Given the description of an element on the screen output the (x, y) to click on. 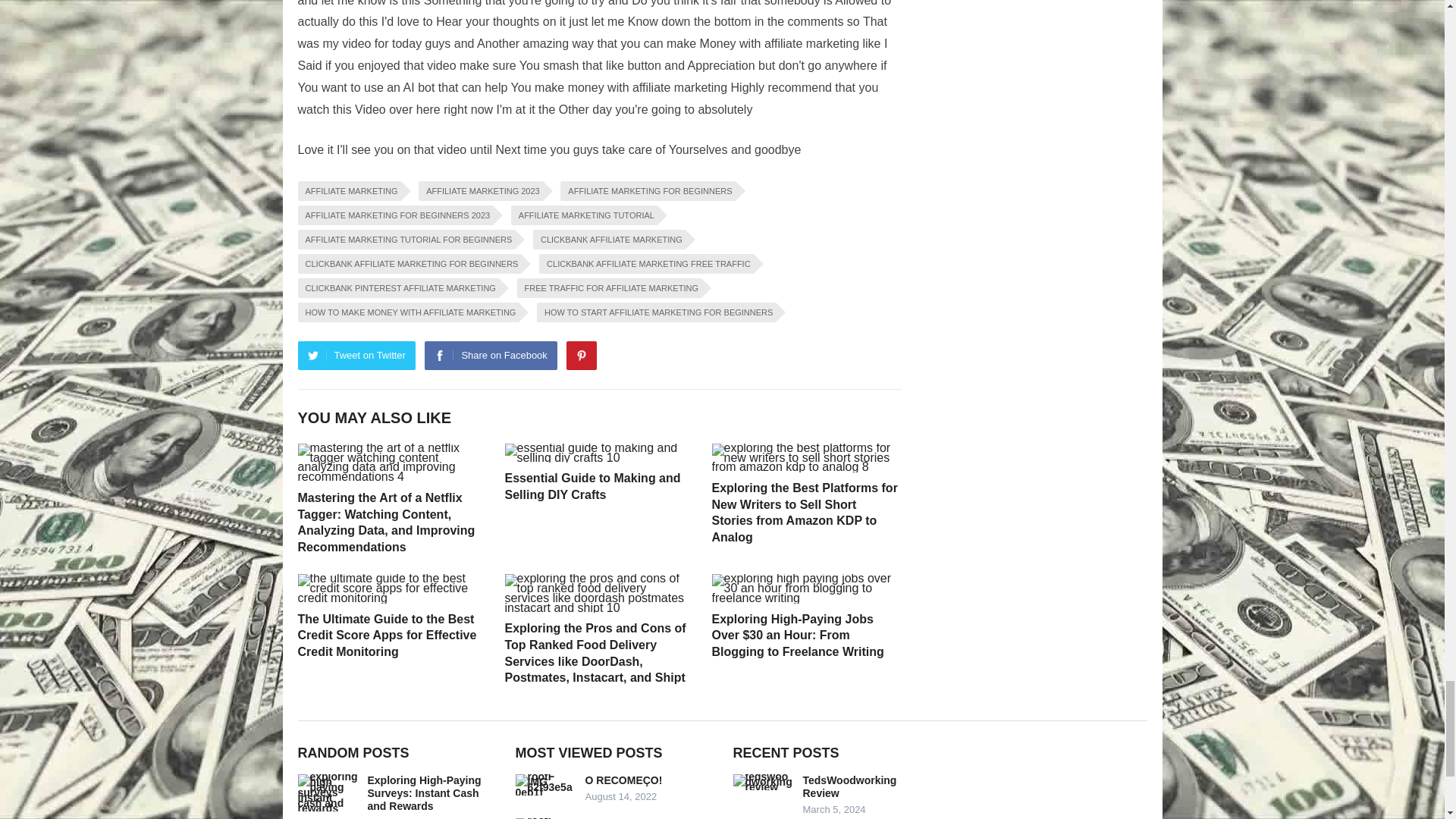
AFFILIATE MARKETING 2023 (481, 190)
AFFILIATE MARKETING FOR BEGINNERS (647, 190)
AFFILIATE MARKETING TUTORIAL (584, 215)
AFFILIATE MARKETING (348, 190)
AFFILIATE MARKETING FOR BEGINNERS 2023 (395, 215)
Essential Guide to Making and Selling DIY Crafts 4 (599, 453)
